Given the description of an element on the screen output the (x, y) to click on. 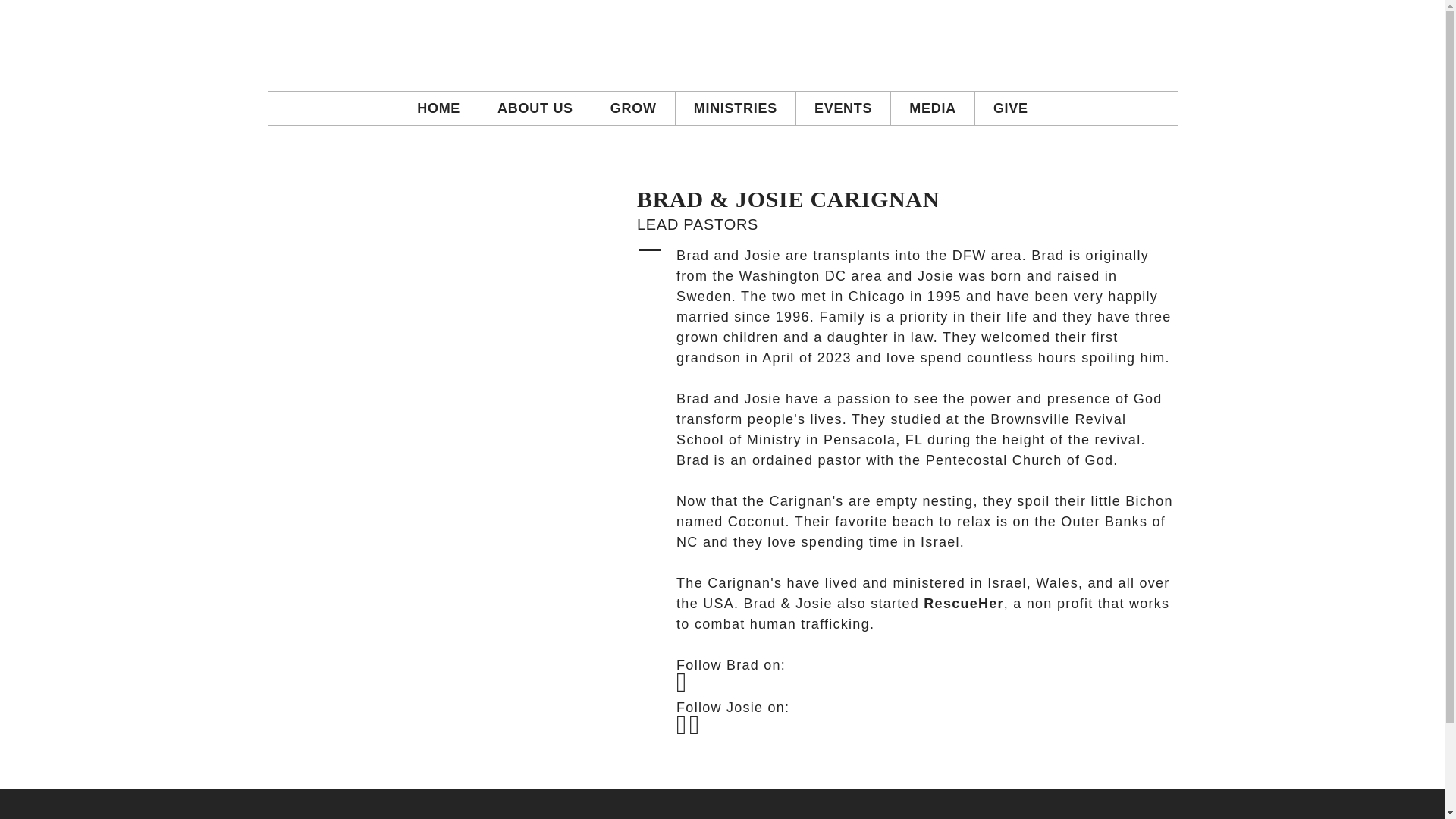
MINISTRIES (734, 108)
HOME (438, 108)
MEDIA (932, 108)
GROW (633, 108)
EVENTS (842, 108)
RescueHer (963, 603)
GIVE (1010, 108)
ABOUT US (535, 108)
